Given the description of an element on the screen output the (x, y) to click on. 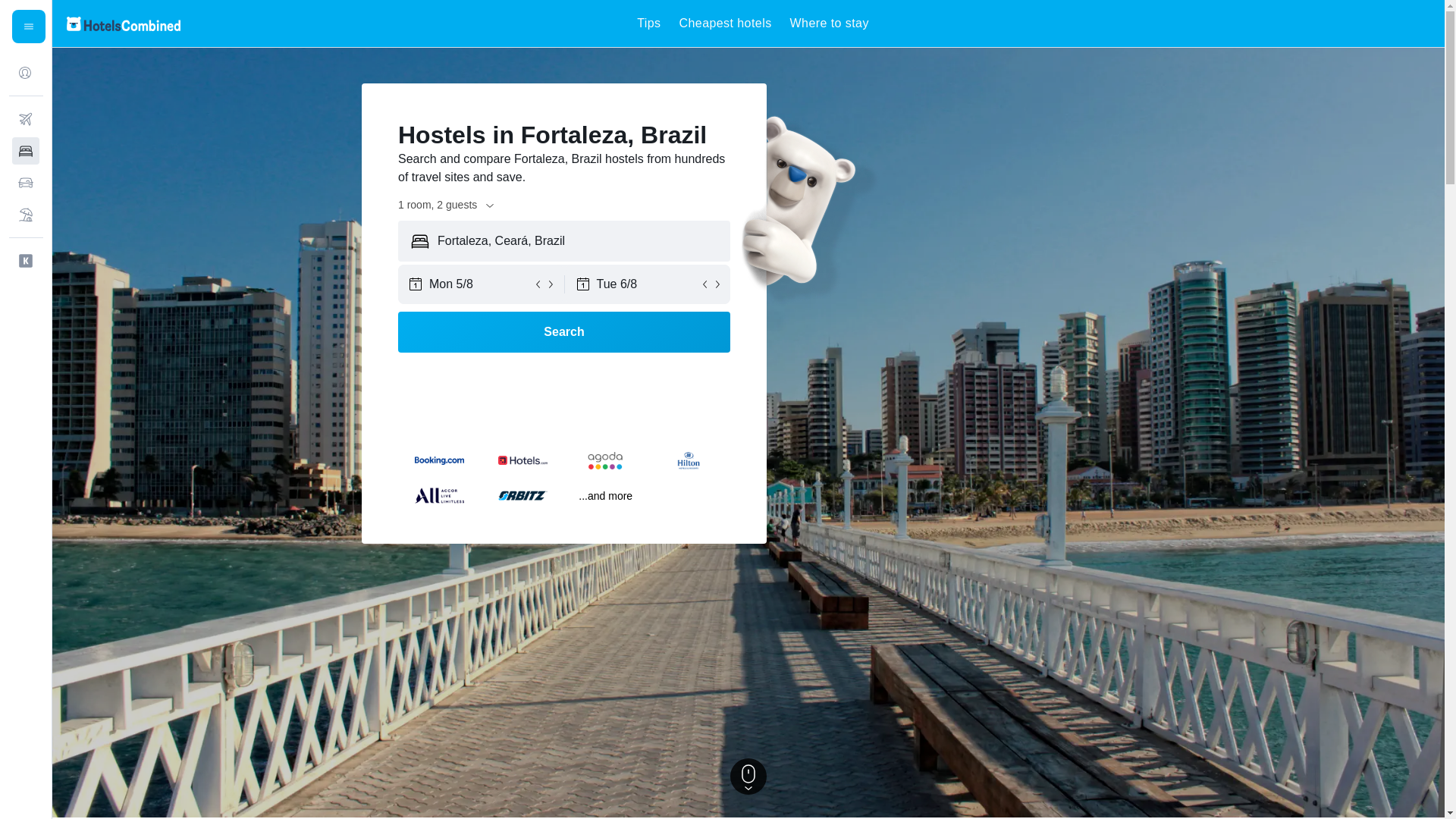
1 room, 2 guests (446, 205)
Search (563, 332)
Search (563, 332)
